Given the description of an element on the screen output the (x, y) to click on. 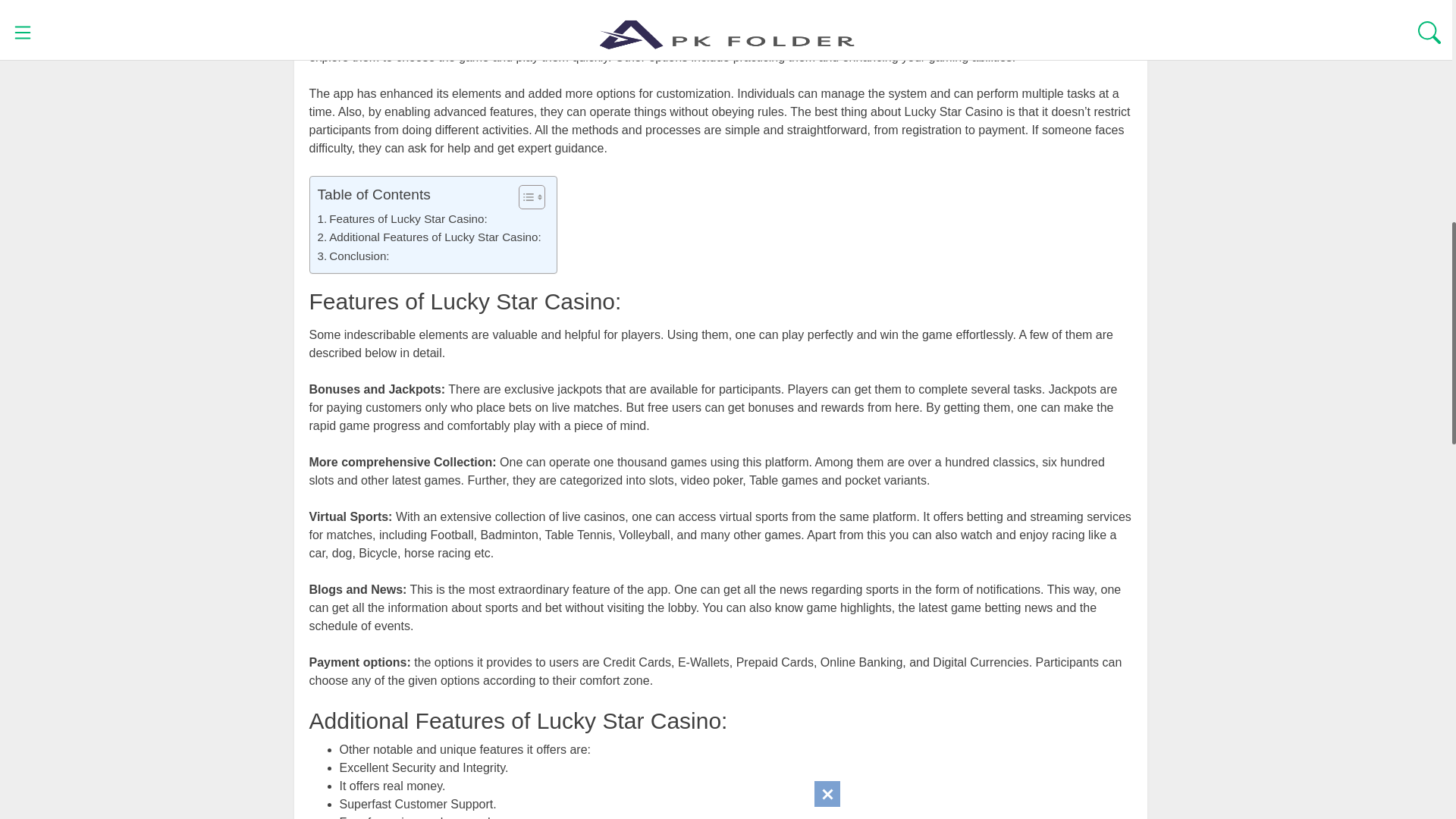
Conclusion: (352, 256)
Additional Features of Lucky Star Casino: (428, 237)
Conclusion: (352, 256)
Features of Lucky Star Casino: (401, 218)
Additional Features of Lucky Star Casino: (428, 237)
Features of Lucky Star Casino: (401, 218)
